Given the description of an element on the screen output the (x, y) to click on. 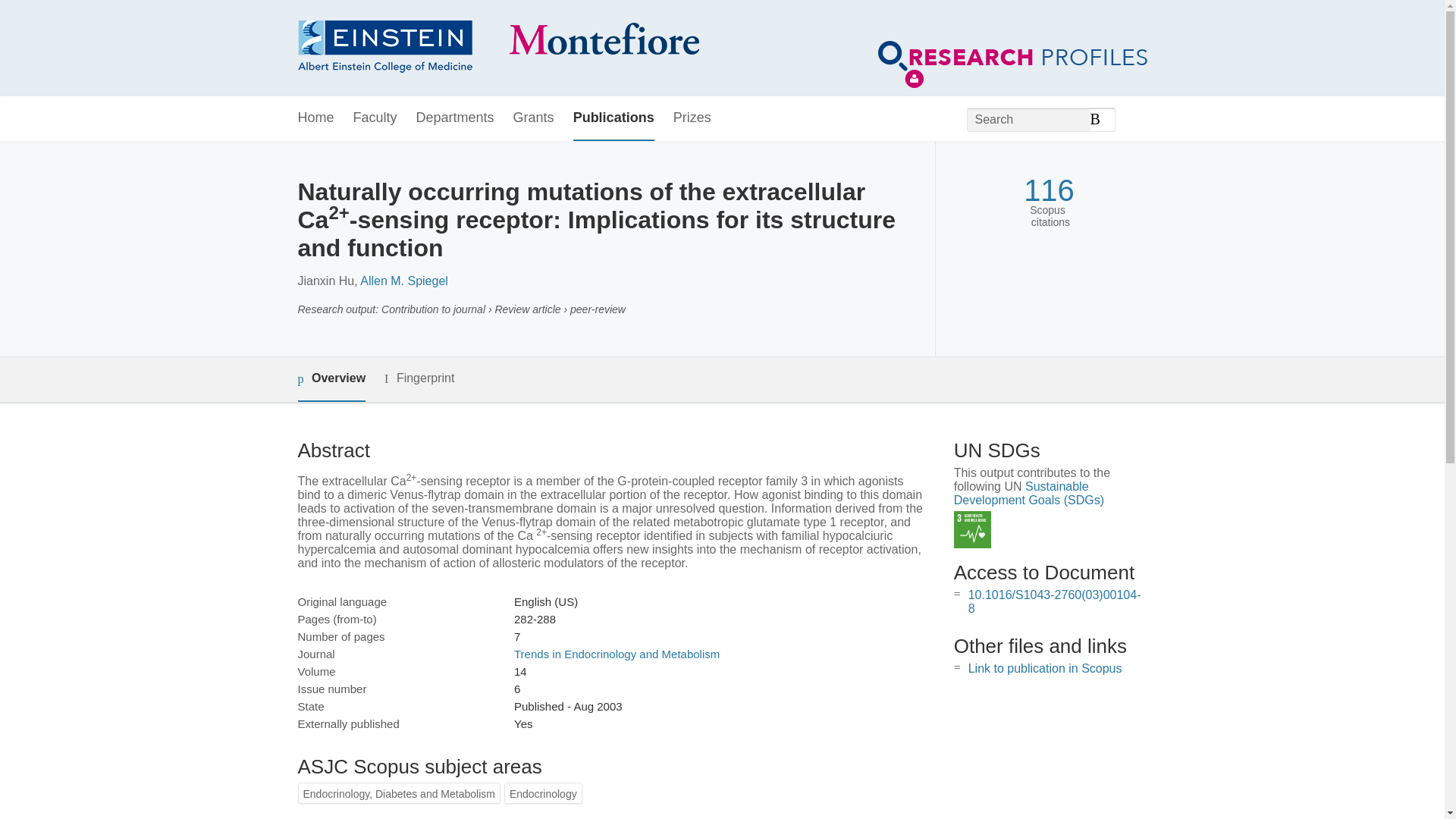
Fingerprint (419, 378)
116 (1048, 190)
Grants (533, 118)
Faculty (375, 118)
Departments (455, 118)
Albert Einstein College of Medicine Home (497, 48)
SDG 3 - Good Health and Well-being (972, 529)
Trends in Endocrinology and Metabolism (616, 653)
Overview (331, 379)
Publications (613, 118)
Allen M. Spiegel (403, 280)
Link to publication in Scopus (1045, 667)
